Given the description of an element on the screen output the (x, y) to click on. 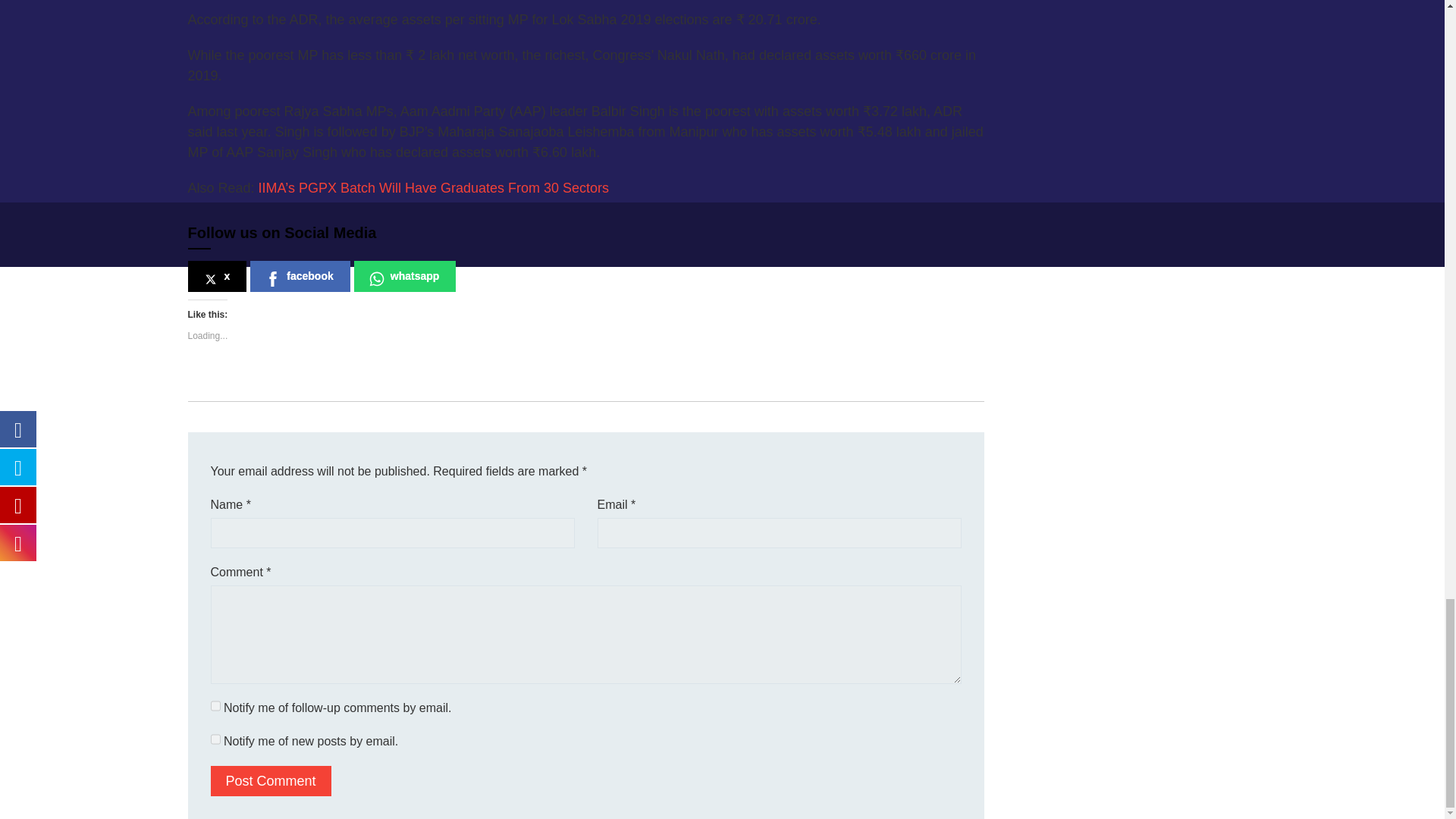
Post Comment (271, 780)
